Given the description of an element on the screen output the (x, y) to click on. 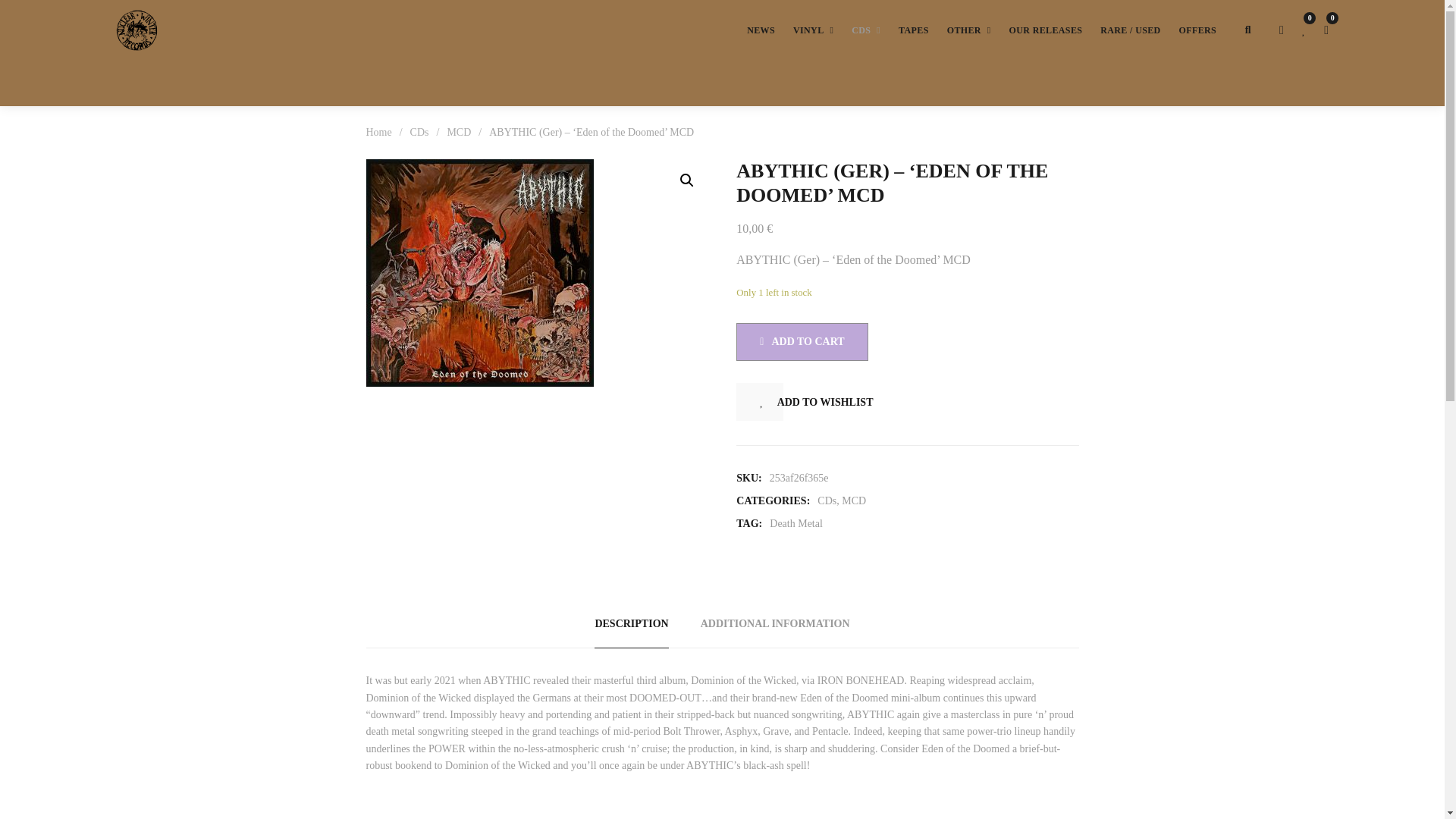
VINYL (812, 30)
CDS (865, 30)
CDs (865, 30)
Home (378, 132)
Tapes (913, 30)
ADDITIONAL INFORMATION (775, 631)
0 (1325, 30)
TAPES (913, 30)
DESCRIPTION (631, 631)
MCD (458, 132)
CDs (419, 132)
Other (969, 30)
OUR RELEASES (1046, 30)
OFFERS (1198, 30)
Death Metal (796, 523)
